Given the description of an element on the screen output the (x, y) to click on. 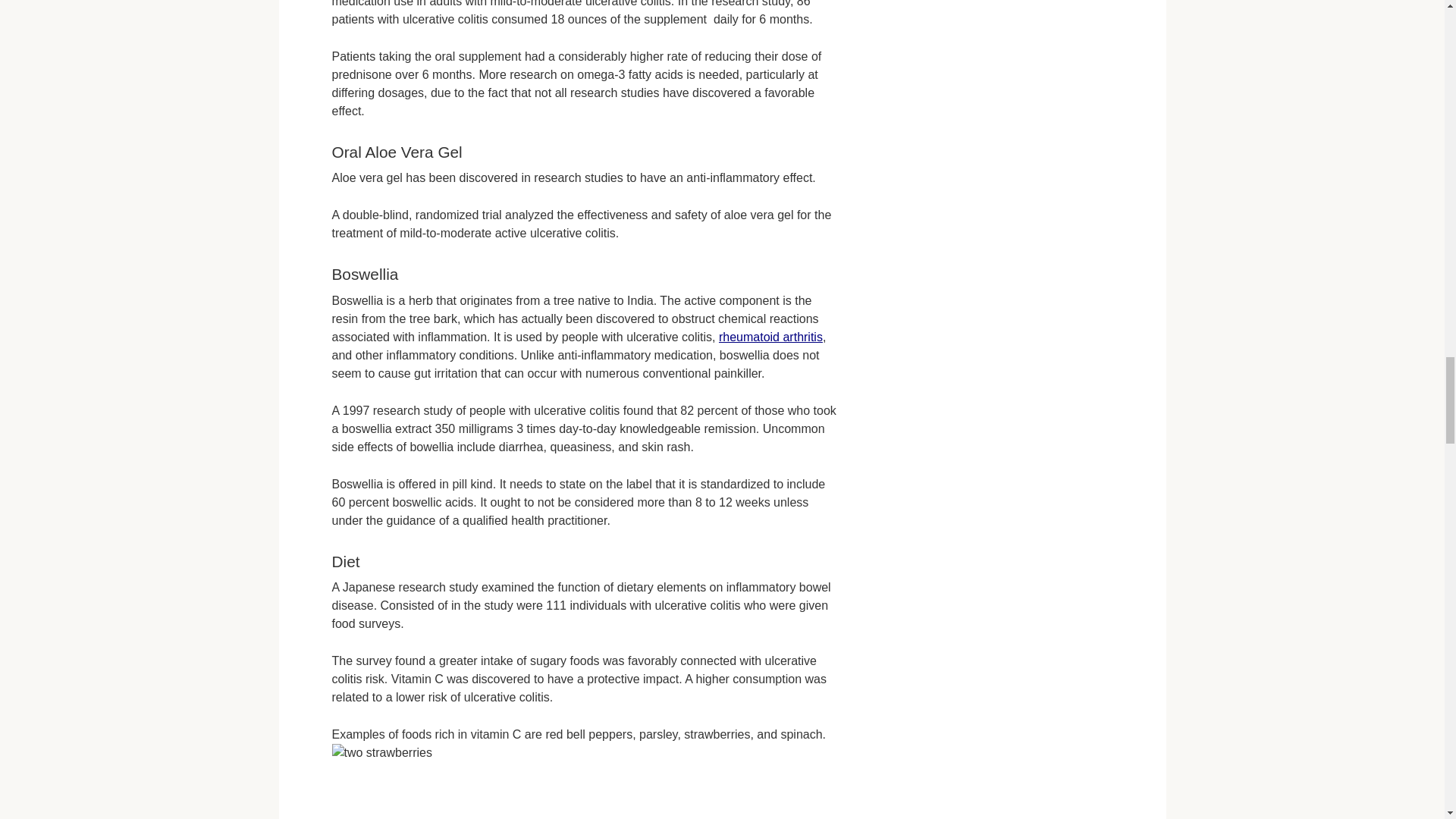
rheumatoid arthritis (770, 336)
